Given the description of an element on the screen output the (x, y) to click on. 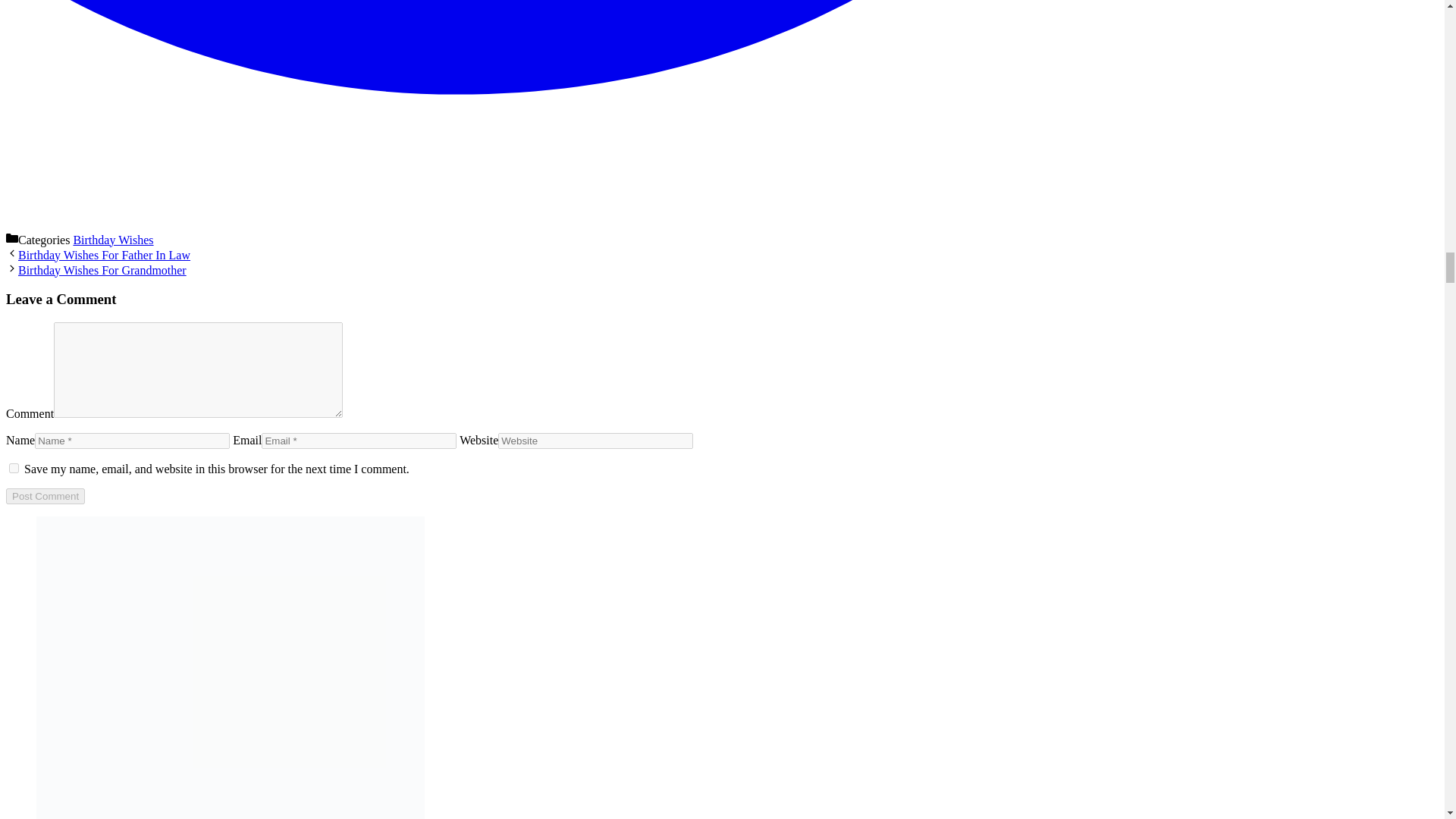
yes (13, 468)
Birthday Wishes For Grandmother (101, 269)
Birthday Wishes (112, 239)
Post Comment (44, 496)
Post Comment (44, 496)
Birthday Wishes For Father In Law (103, 254)
